Given the description of an element on the screen output the (x, y) to click on. 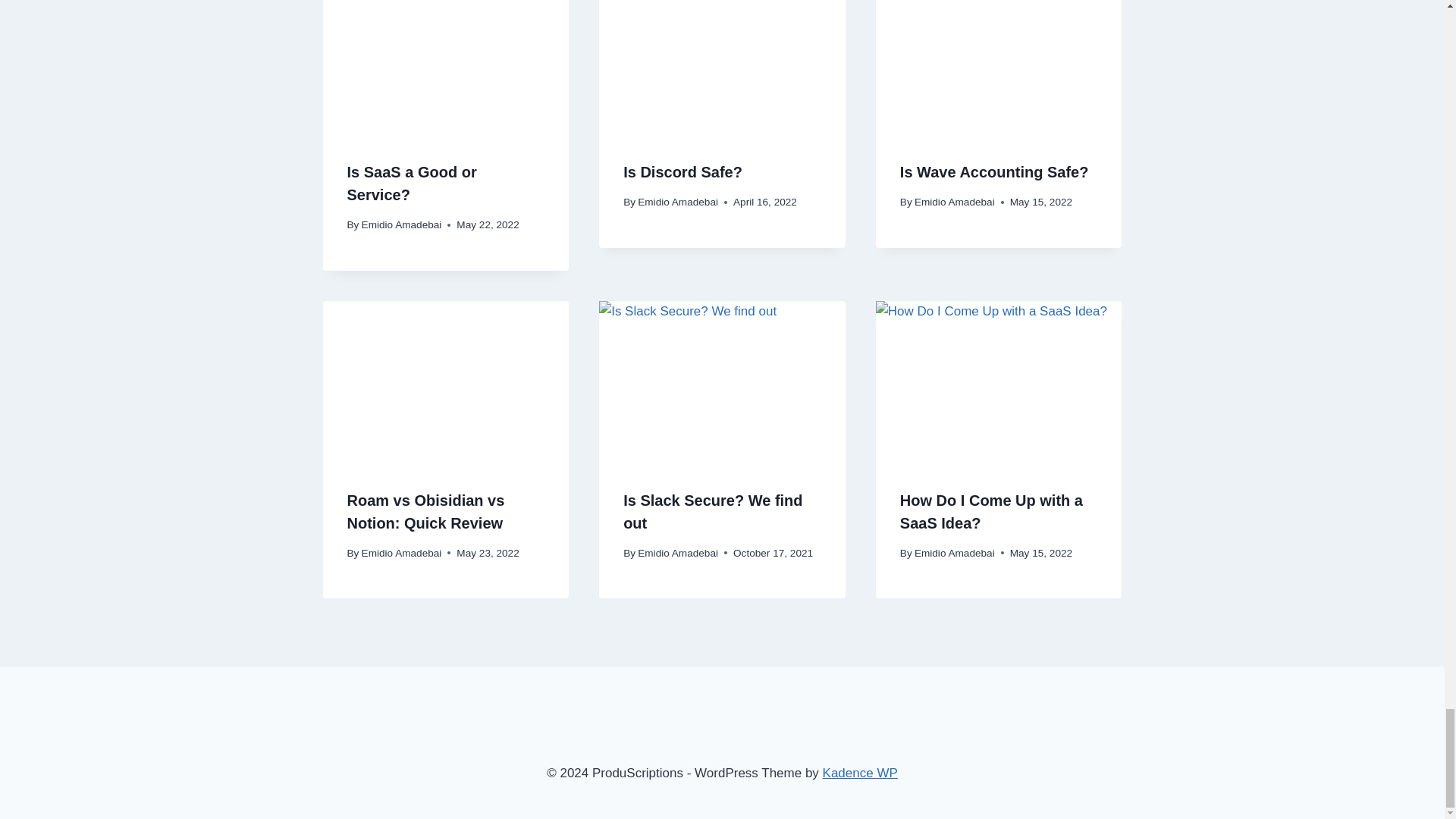
Emidio Amadebai (401, 224)
Emidio Amadebai (677, 202)
Is SaaS a Good or Service?  (412, 183)
Is Discord Safe? (682, 171)
